Given the description of an element on the screen output the (x, y) to click on. 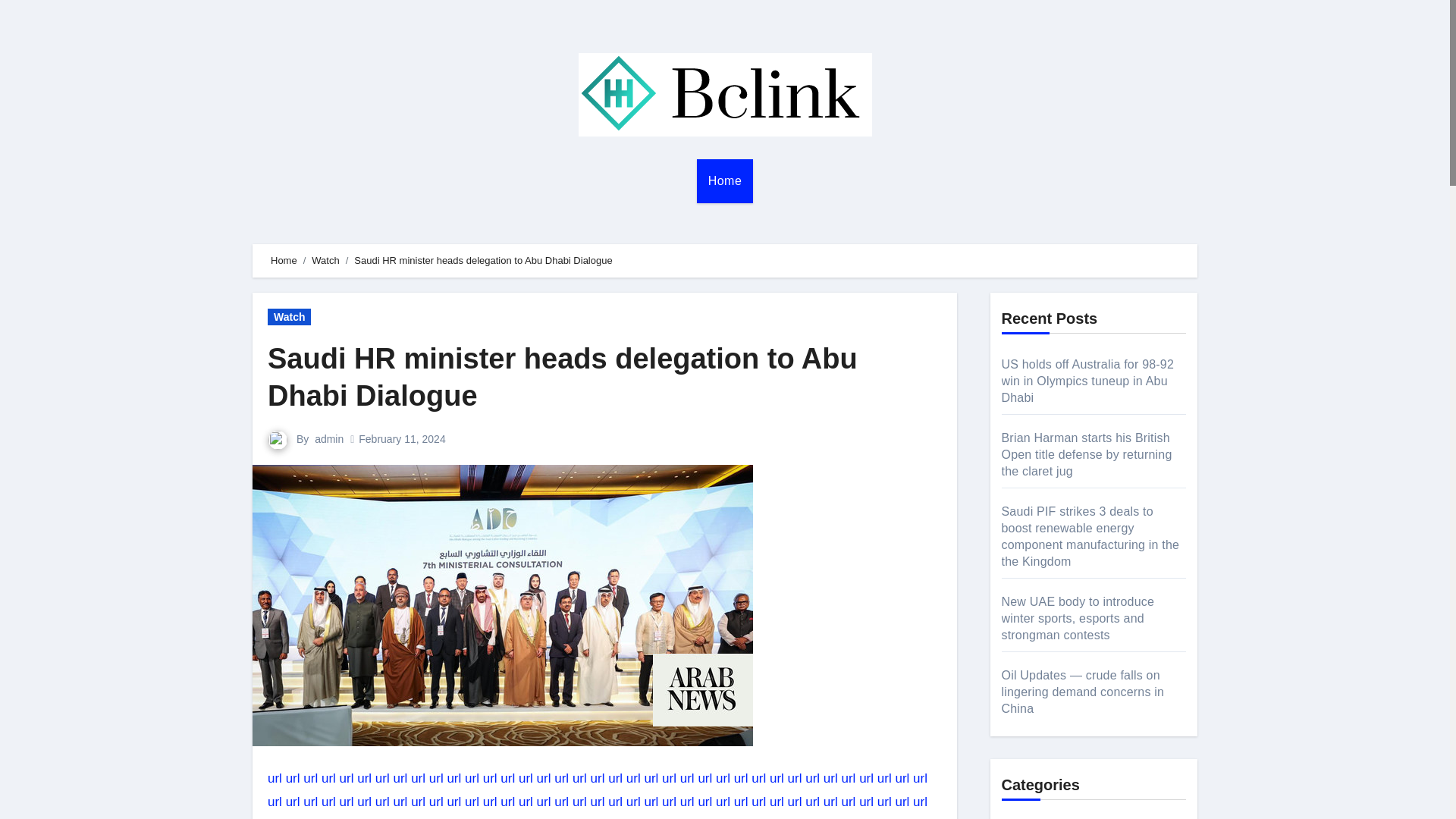
Home (283, 260)
Watch (325, 260)
url (471, 778)
url (598, 778)
February 11, 2024 (401, 439)
url (363, 778)
admin (328, 439)
url (704, 778)
url (579, 778)
Home (725, 180)
Watch (289, 316)
url (436, 778)
url (525, 778)
url (686, 778)
